Given the description of an element on the screen output the (x, y) to click on. 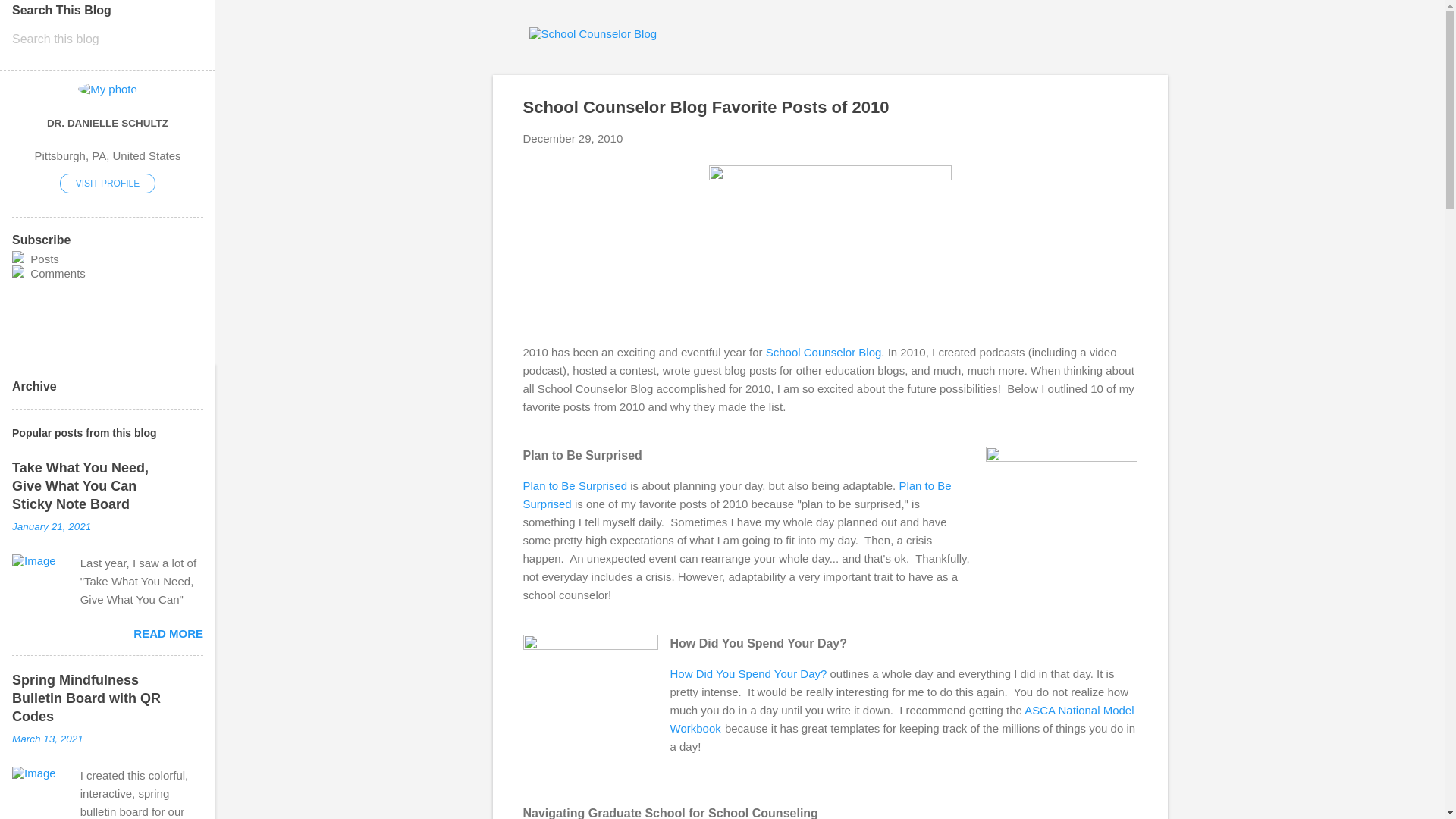
December 29, 2010 (572, 137)
Search (29, 18)
How Did You Spend Your Day? (748, 673)
School Counselor Blog (823, 351)
Plan to Be Surprised (574, 485)
Plan to Be Surprised (737, 494)
permanent link (572, 137)
ASCA National Model Workbook (901, 718)
